Given the description of an element on the screen output the (x, y) to click on. 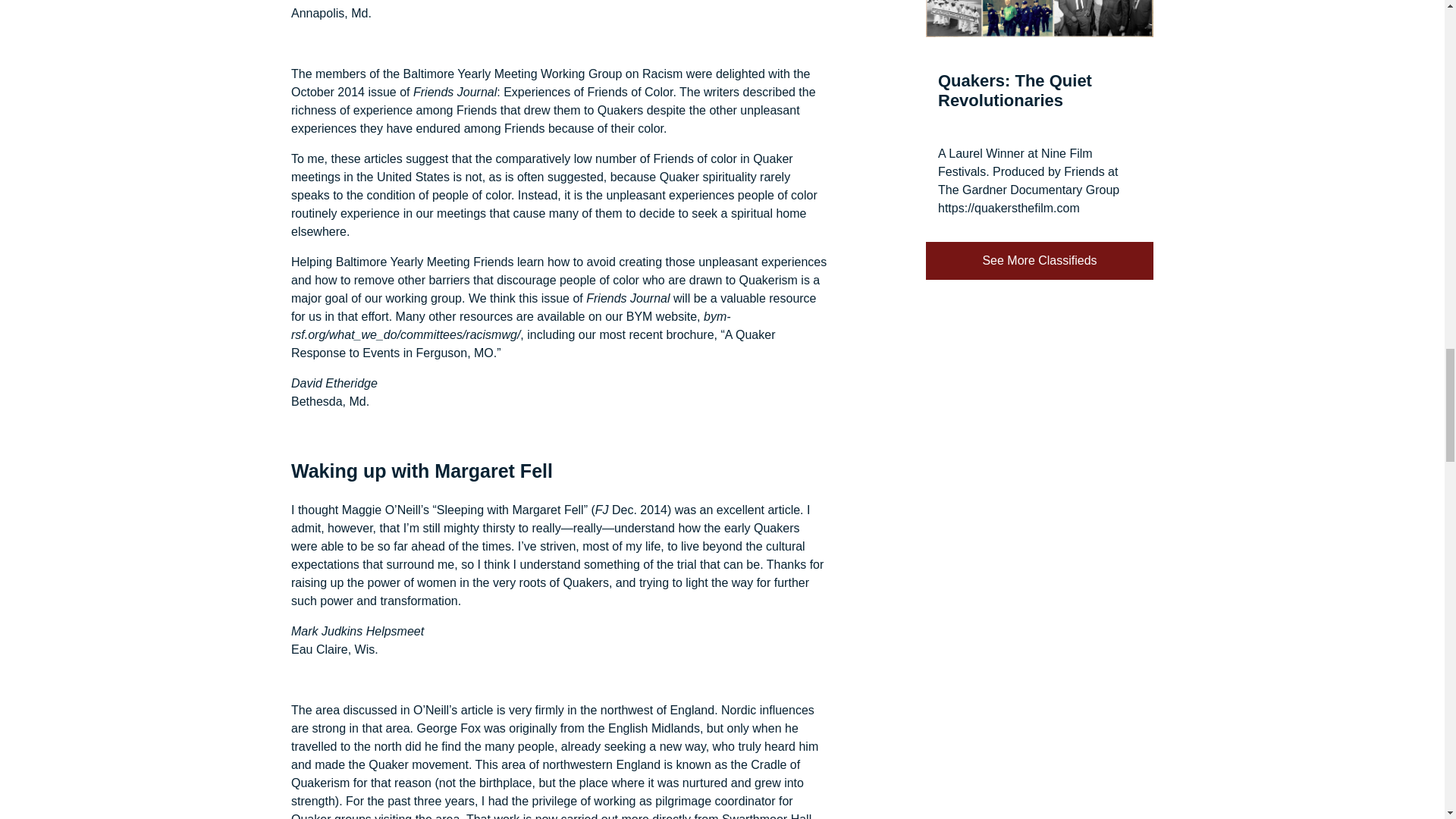
See More Classifieds (1038, 259)
